Given the description of an element on the screen output the (x, y) to click on. 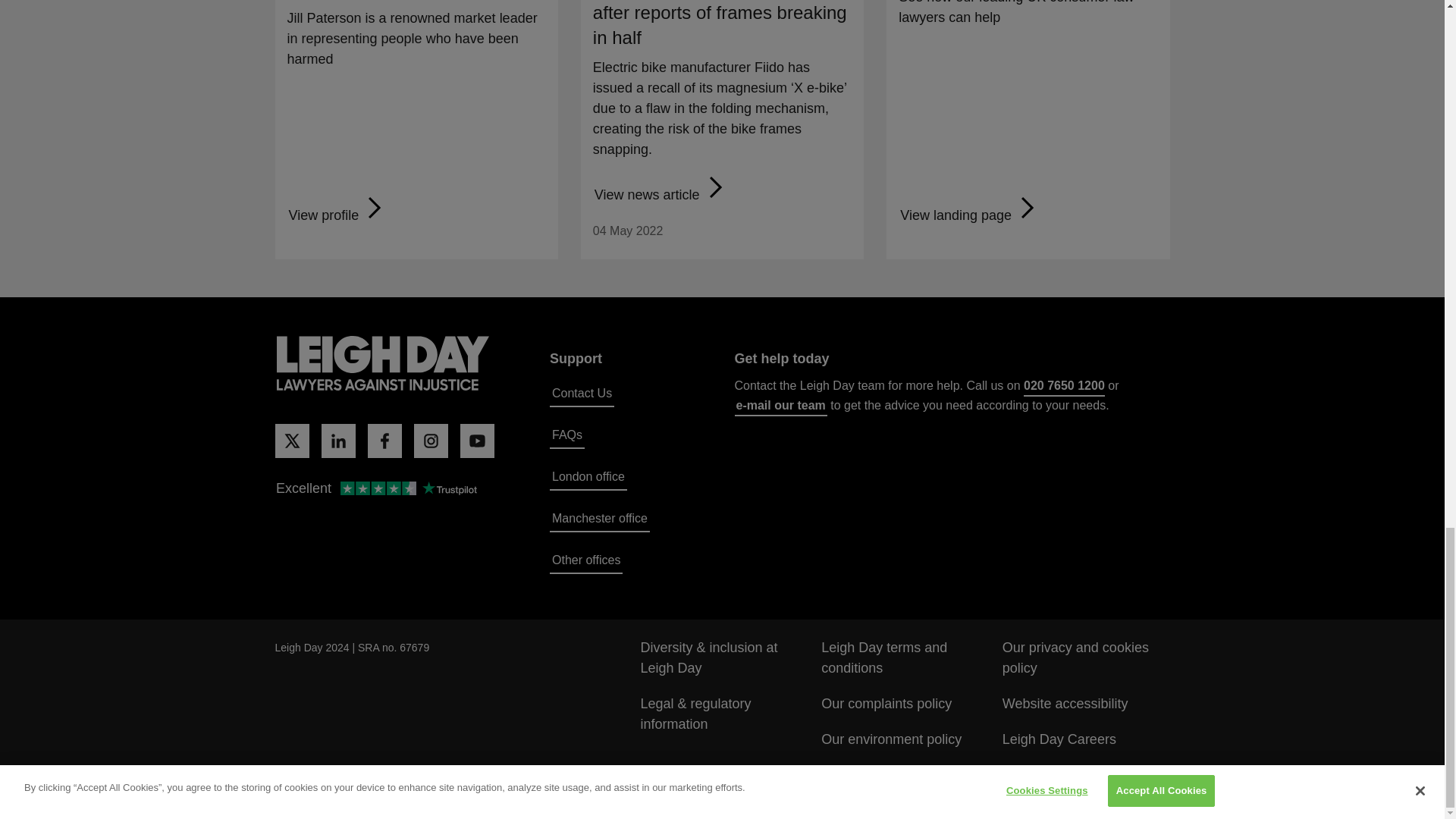
View Jill Paterson (337, 215)
Customer reviews powered by Trustpilot (375, 488)
View Consumer, competition and financial services claims (969, 215)
